Given the description of an element on the screen output the (x, y) to click on. 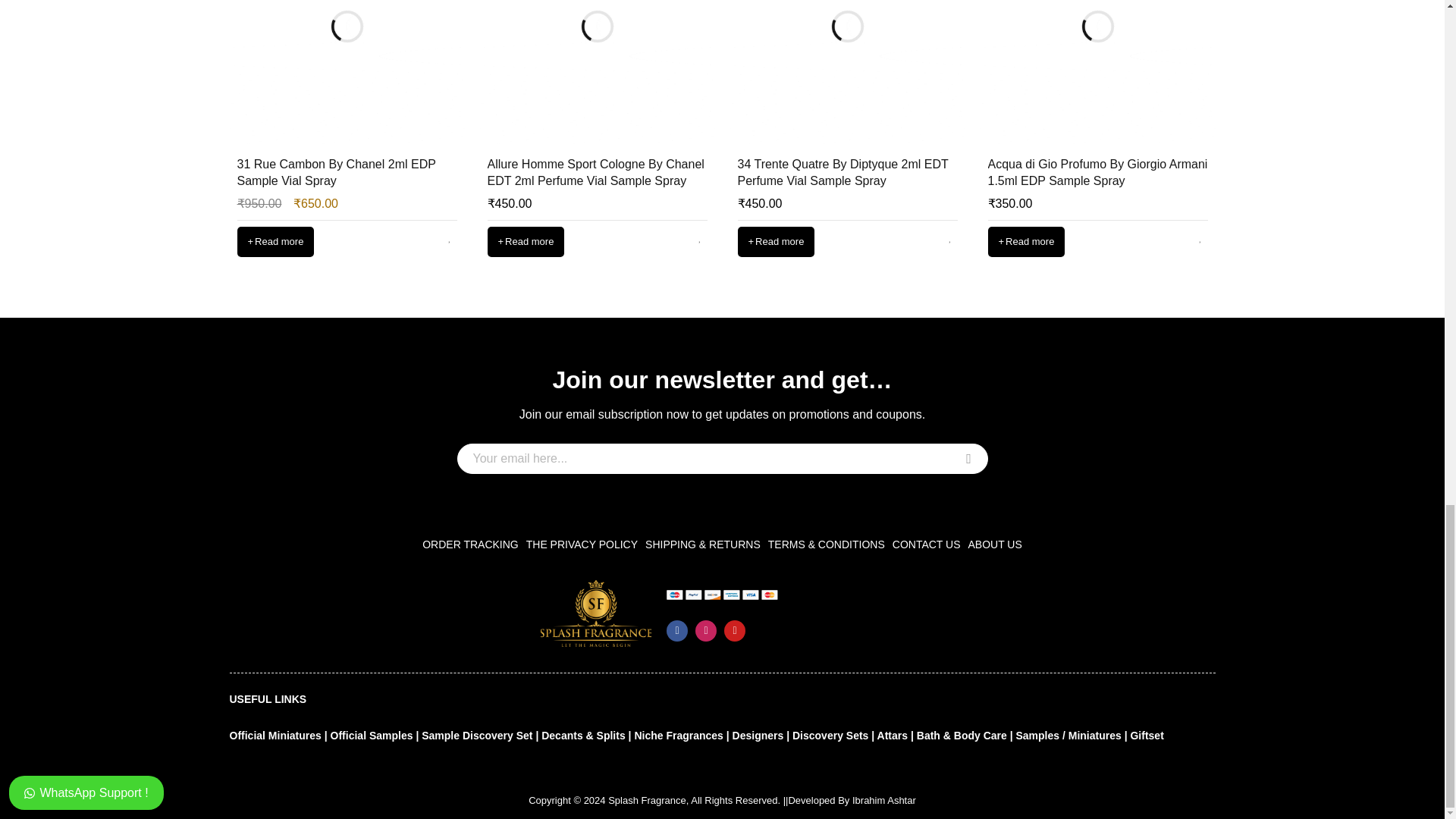
Splash-Logo-Gold3 (595, 613)
